Given the description of an element on the screen output the (x, y) to click on. 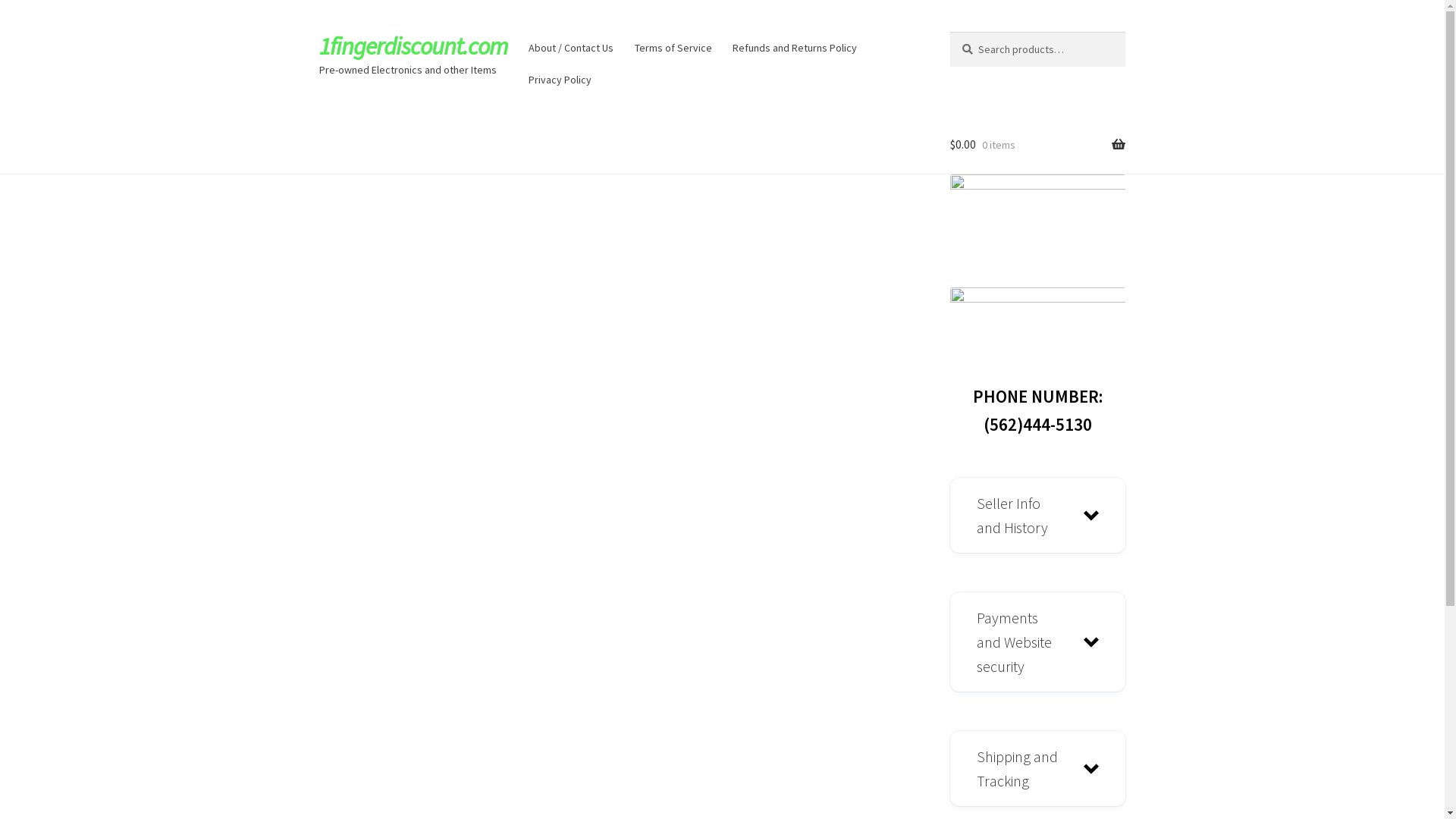
Terms of Service Element type: text (672, 47)
Refunds and Returns Policy Element type: text (794, 47)
Privacy Policy Element type: text (560, 79)
Search Element type: text (949, 31)
1fingerdiscount.com Element type: text (413, 46)
About / Contact Us Element type: text (571, 47)
$0.00 0 items Element type: text (1037, 144)
Skip to navigation Element type: text (318, 31)
